Given the description of an element on the screen output the (x, y) to click on. 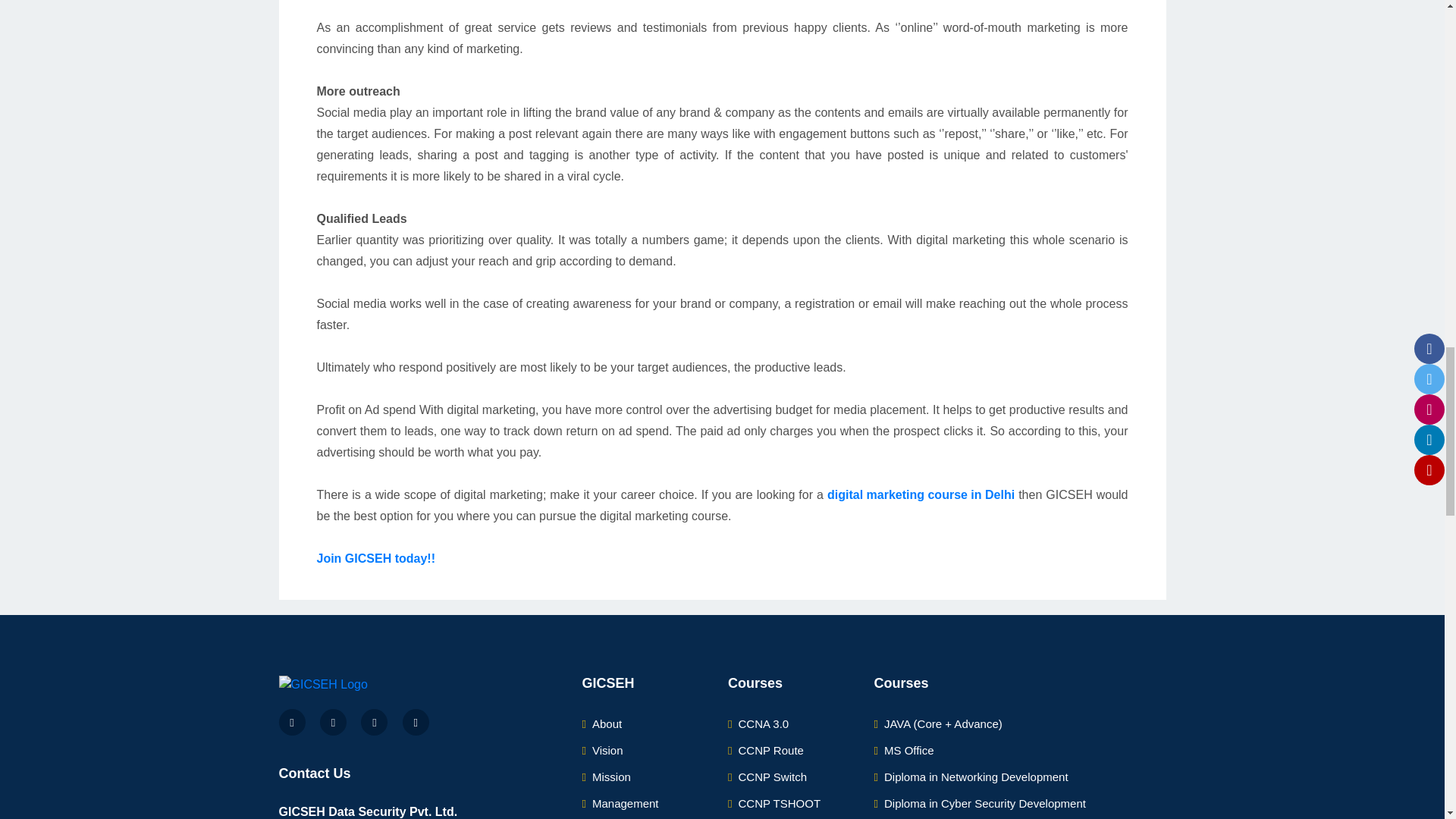
Twitter (333, 722)
Facebook (292, 722)
Instagram (374, 722)
